Given the description of an element on the screen output the (x, y) to click on. 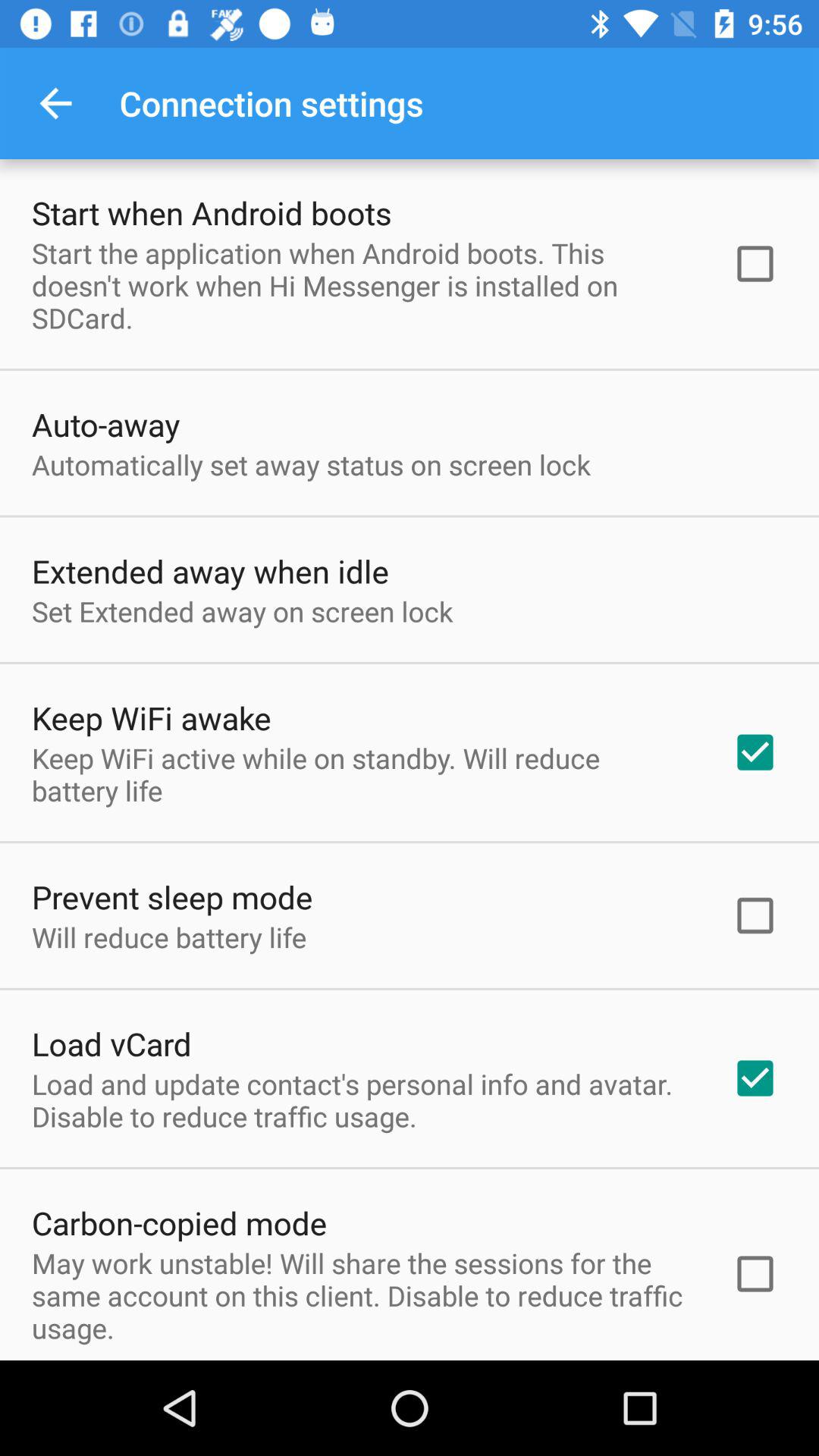
jump until the auto-away item (105, 423)
